Given the description of an element on the screen output the (x, y) to click on. 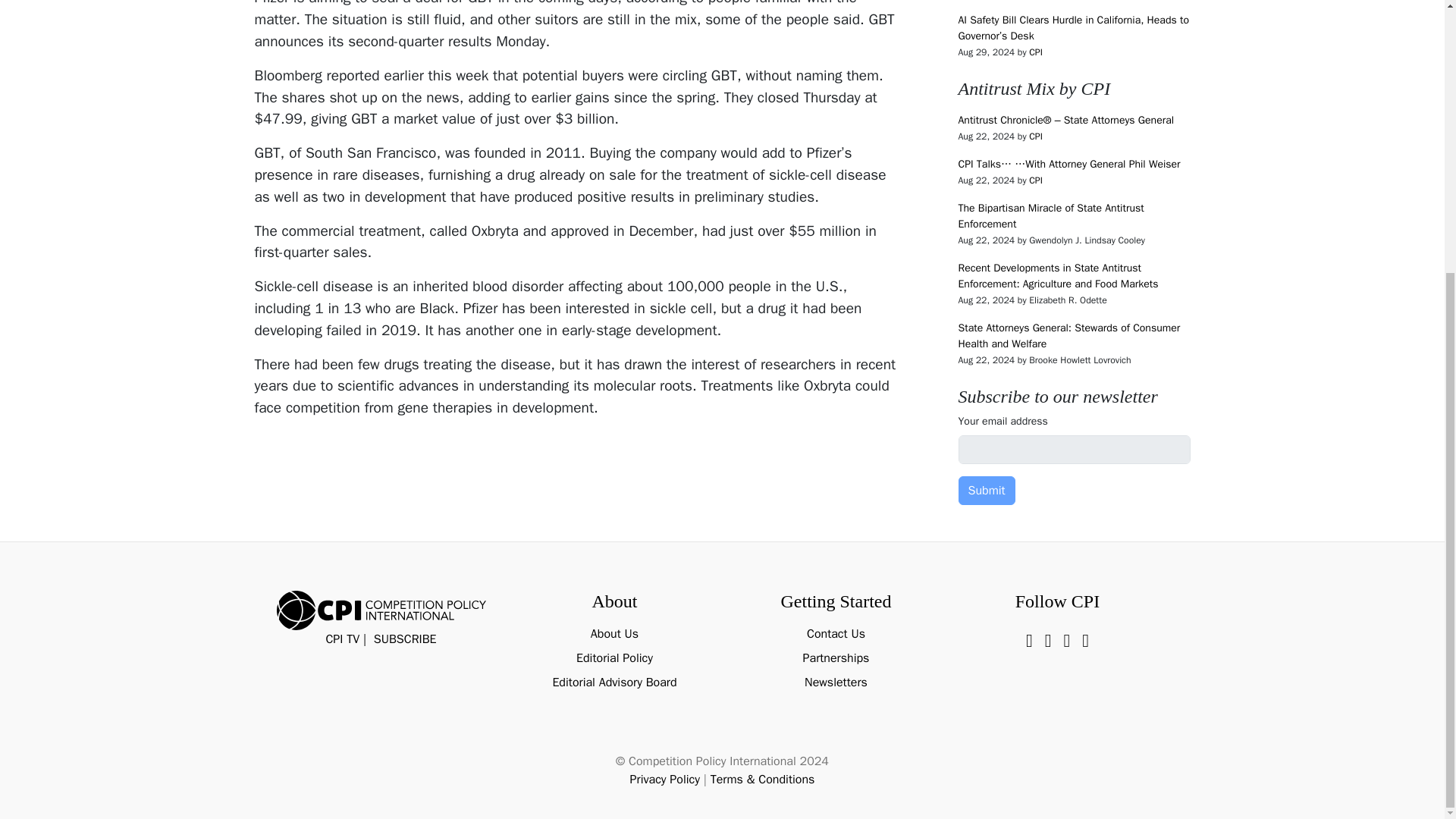
The Bipartisan Miracle of State Antitrust Enforcement (1051, 215)
Submit (986, 490)
CPI (1035, 136)
CPI TV (341, 639)
Posts by CPI (1035, 51)
CPI (1035, 51)
Posts by CPI (1035, 136)
CPI (1035, 180)
Posts by CPI (1035, 180)
